Given the description of an element on the screen output the (x, y) to click on. 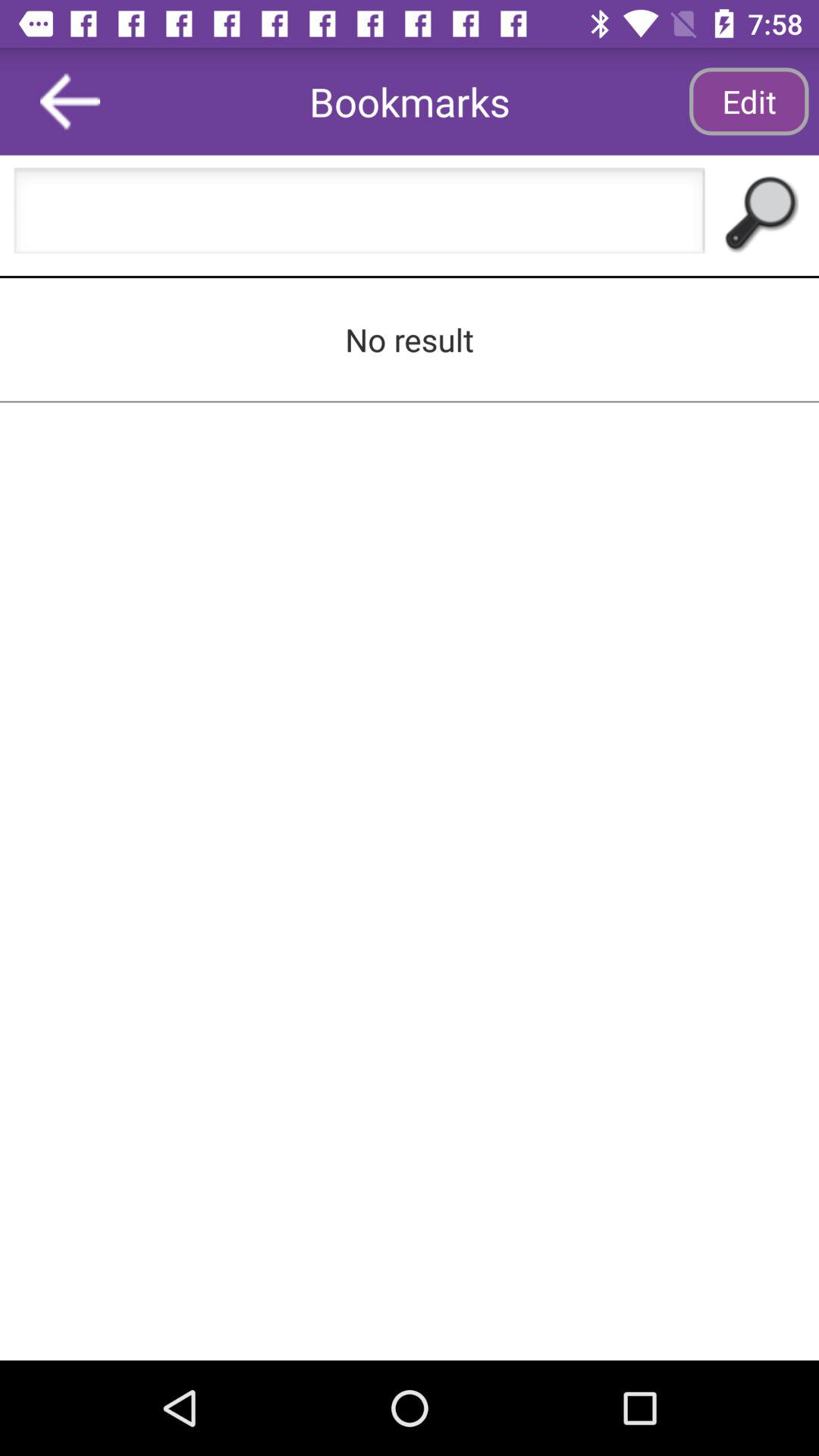
choose item to the left of the bookmarks app (69, 101)
